Given the description of an element on the screen output the (x, y) to click on. 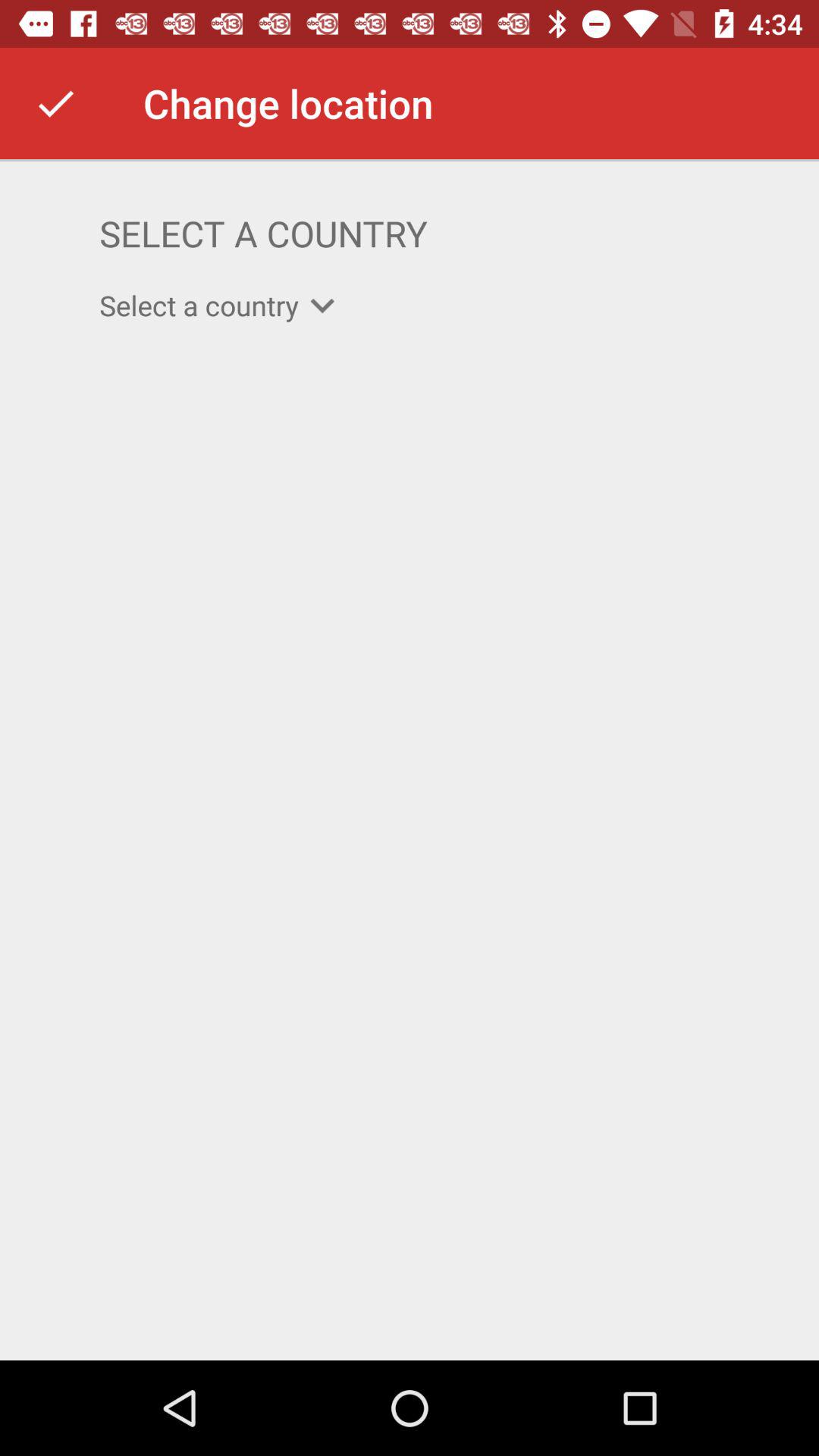
click the icon to the left of change location item (55, 103)
